Given the description of an element on the screen output the (x, y) to click on. 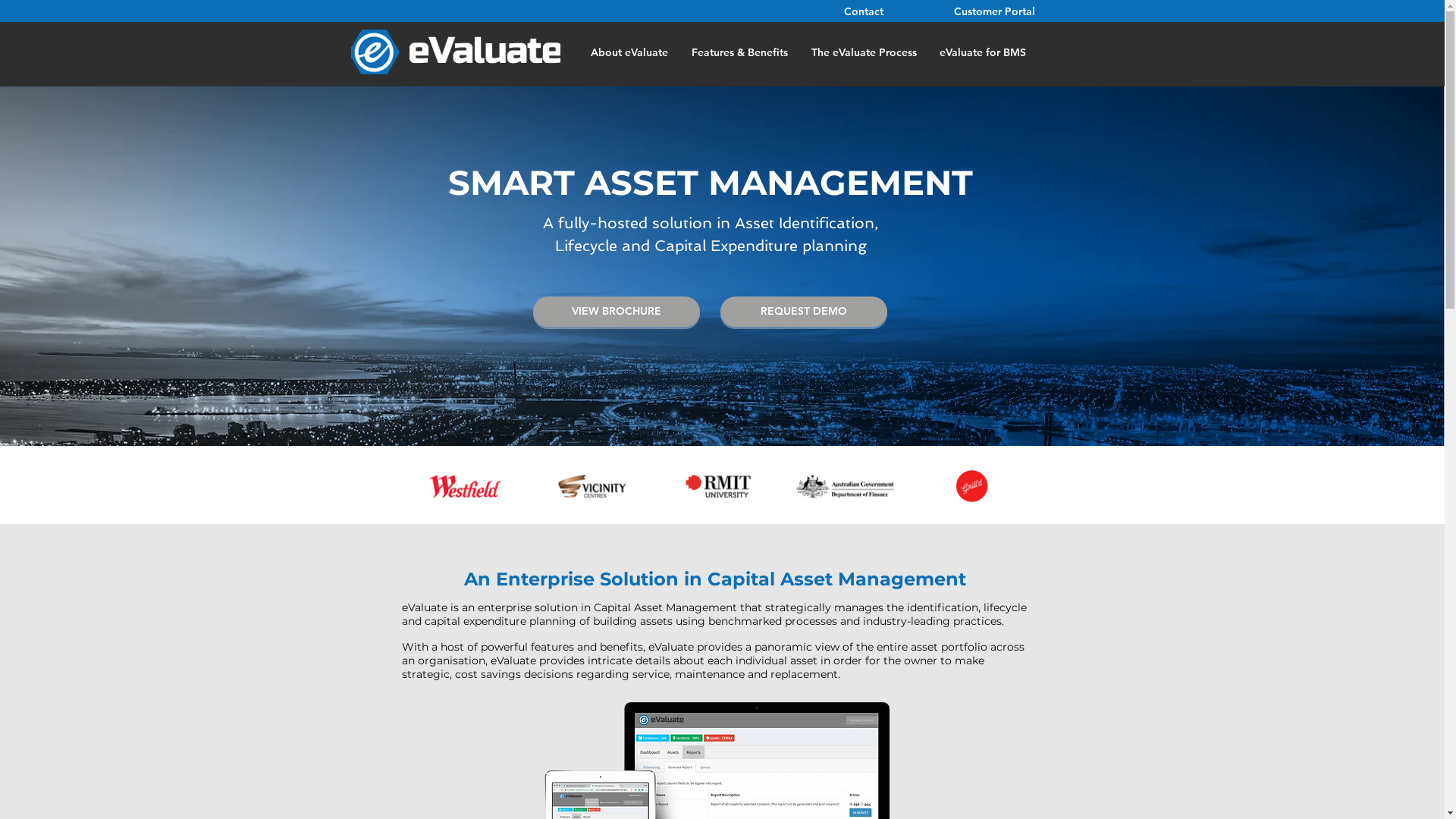
About eValuate Element type: text (627, 50)
Customer Portal Element type: text (993, 11)
Contact Element type: text (865, 10)
VIEW BROCHURE Element type: text (615, 310)
The eValuate Process Element type: text (863, 50)
eValuate for BMS Element type: text (982, 50)
REQUEST DEMO Element type: text (803, 310)
Features & Benefits Element type: text (739, 50)
